Given the description of an element on the screen output the (x, y) to click on. 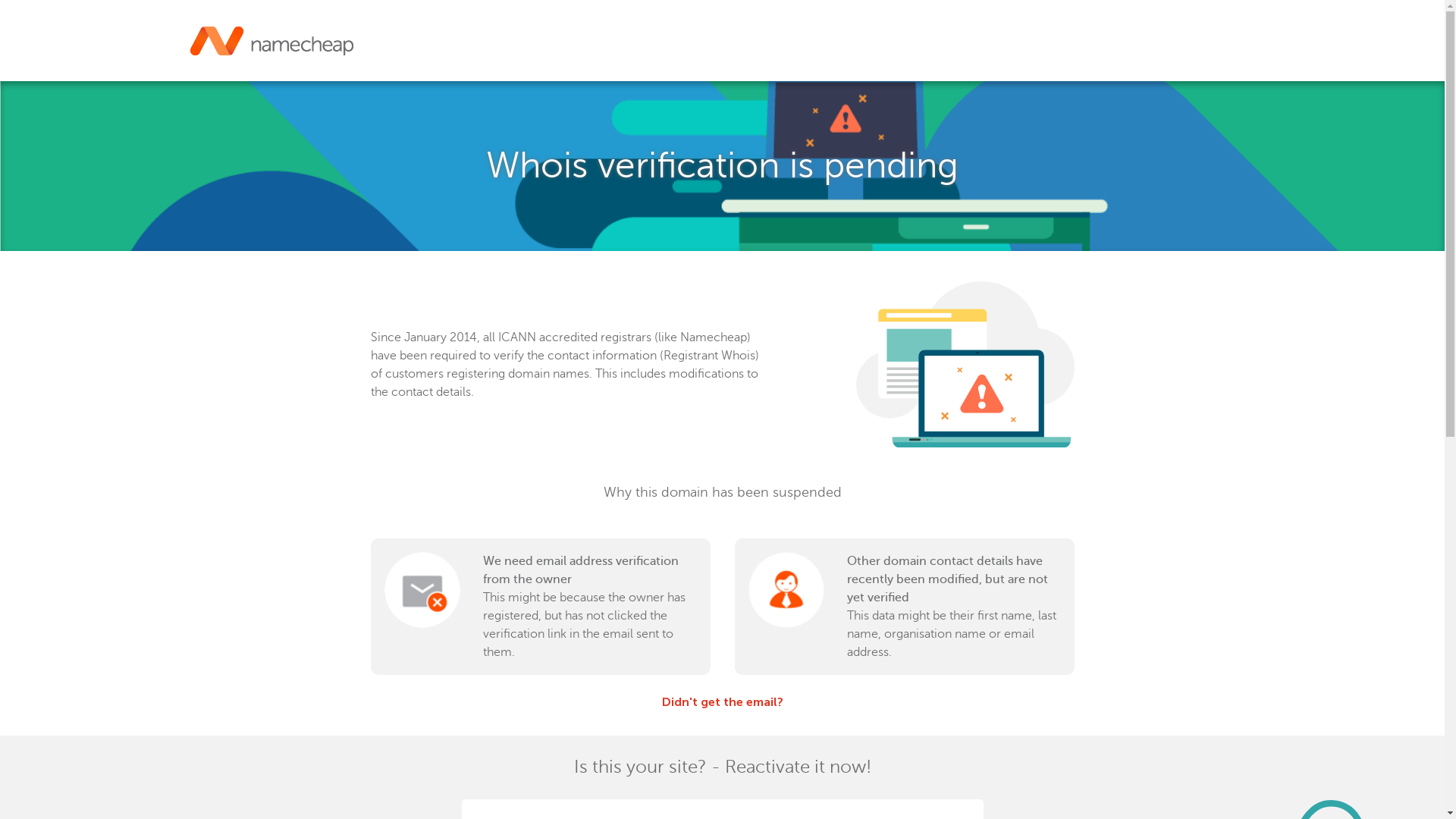
Didn't get the email? Element type: text (721, 701)
